Given the description of an element on the screen output the (x, y) to click on. 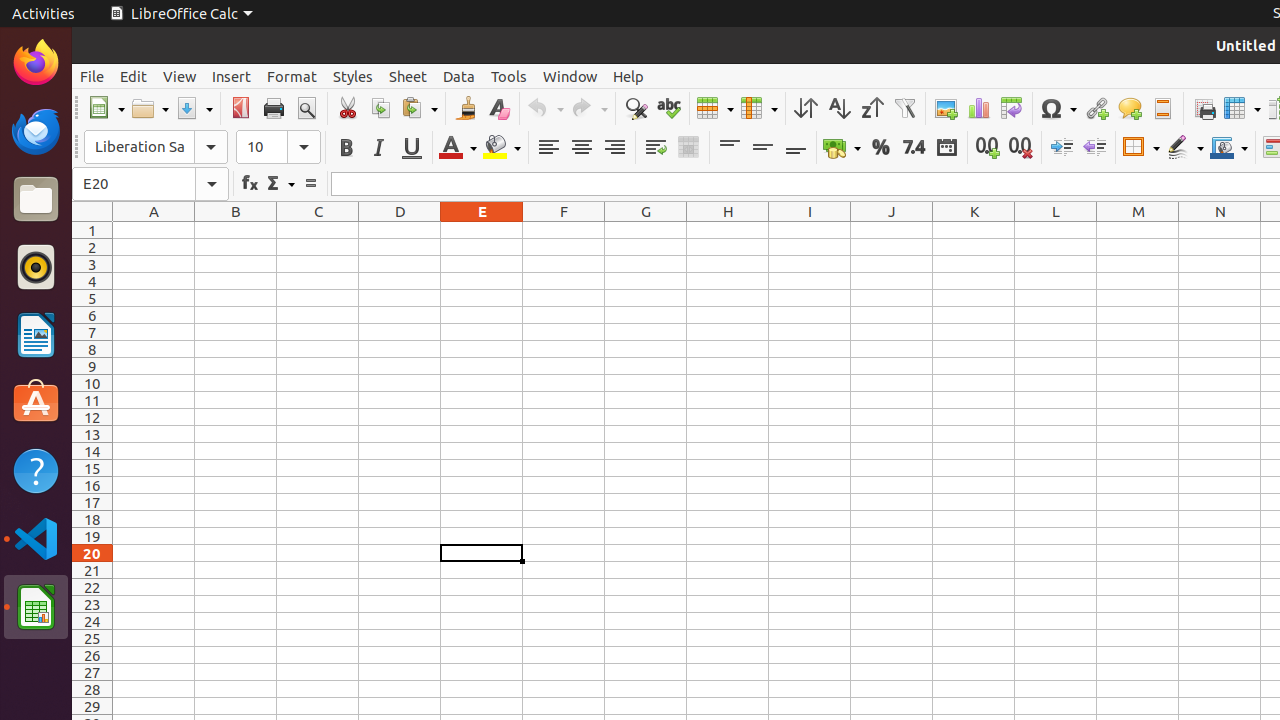
Currency Element type: push-button (842, 147)
Tools Element type: menu (509, 76)
Files Element type: push-button (36, 199)
View Element type: menu (179, 76)
